Given the description of an element on the screen output the (x, y) to click on. 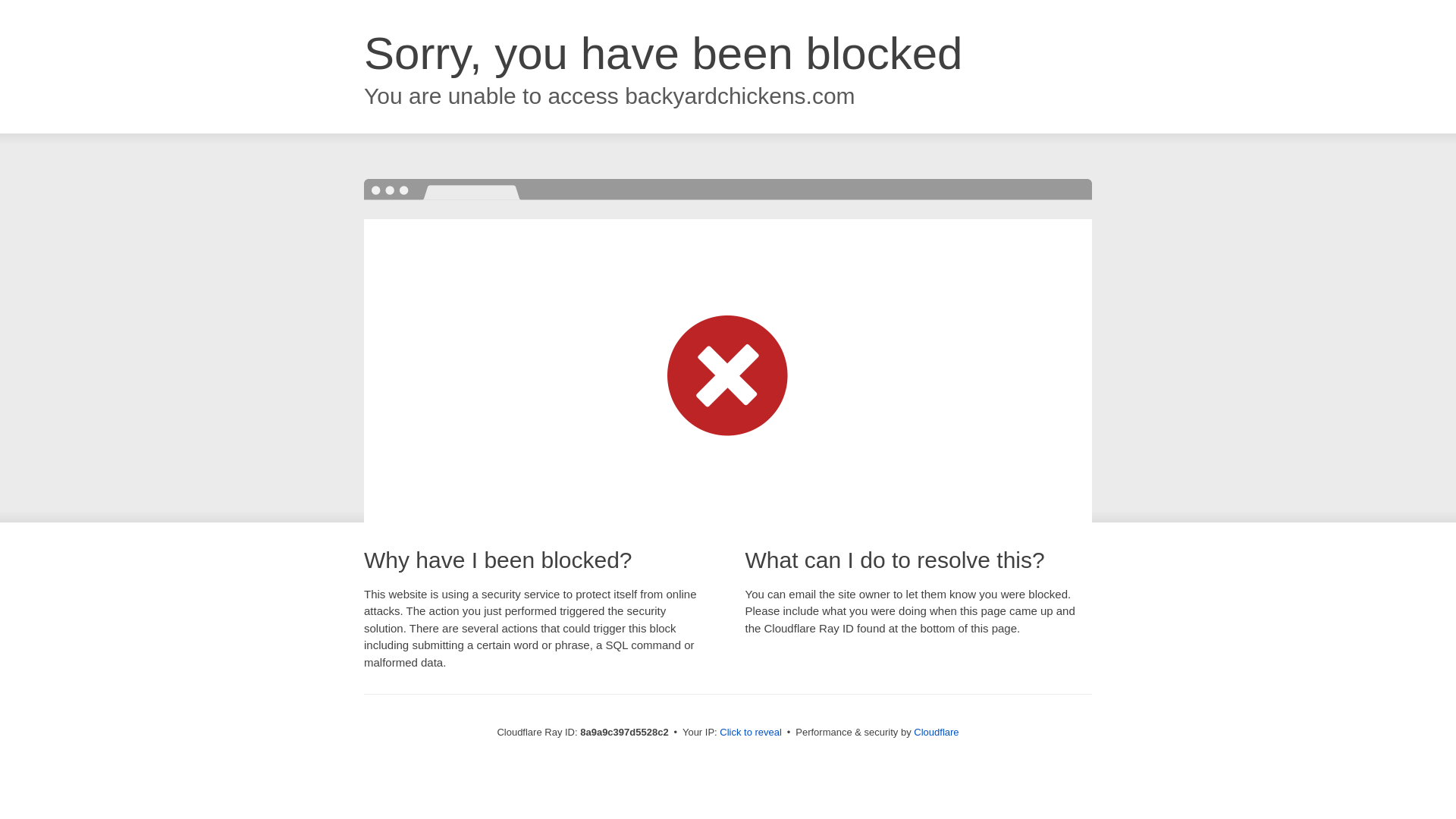
Cloudflare (936, 731)
Click to reveal (750, 732)
